Given the description of an element on the screen output the (x, y) to click on. 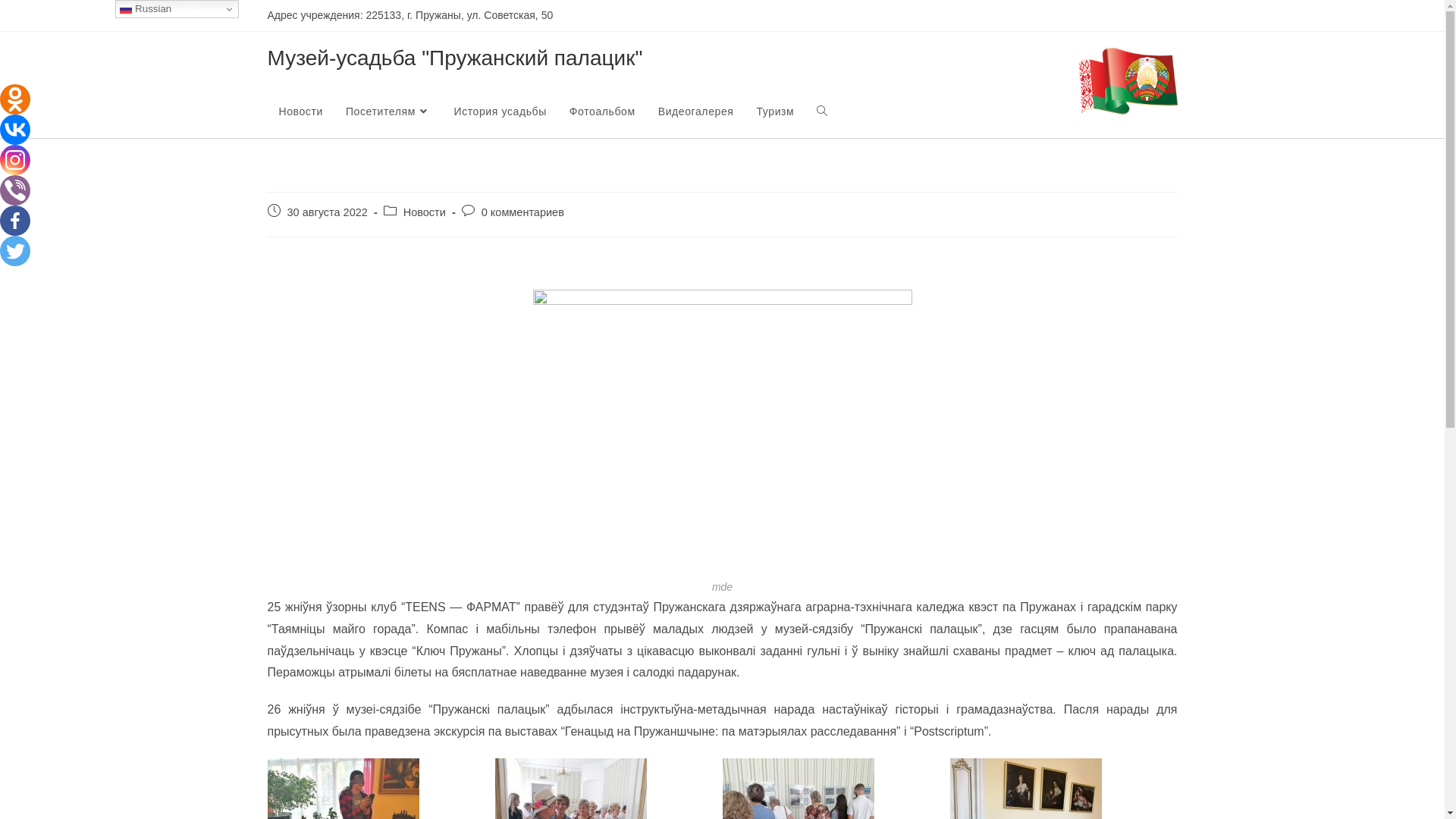
Facebook Element type: hover (15, 220)
Twitter Element type: hover (15, 250)
Viber Element type: hover (15, 190)
Vkontakte Element type: hover (15, 129)
Instagram Element type: hover (15, 159)
Odnoklassniki Element type: hover (15, 99)
Russian Element type: text (176, 9)
